Given the description of an element on the screen output the (x, y) to click on. 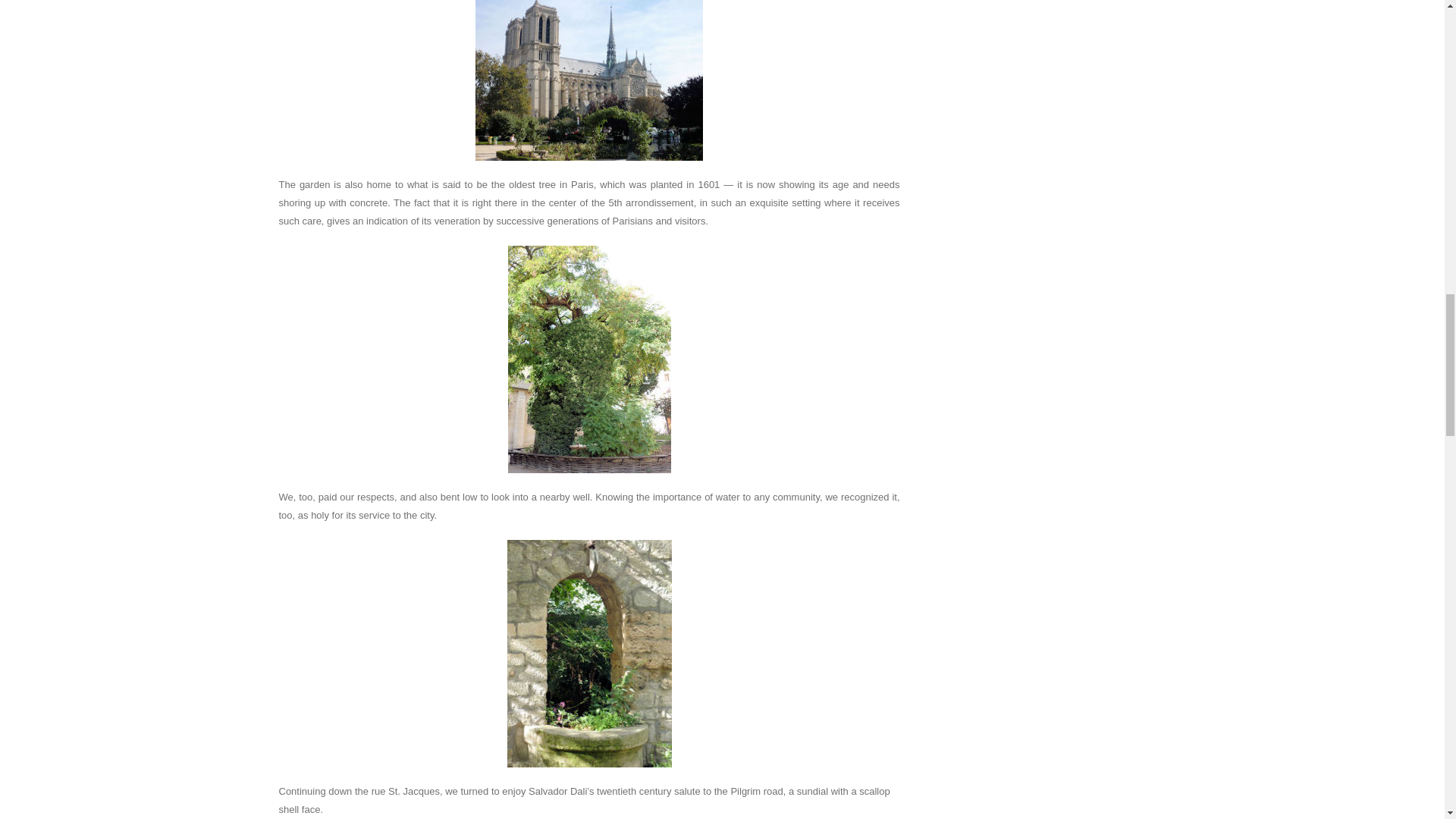
Notre Dame, Paris (589, 80)
